Given the description of an element on the screen output the (x, y) to click on. 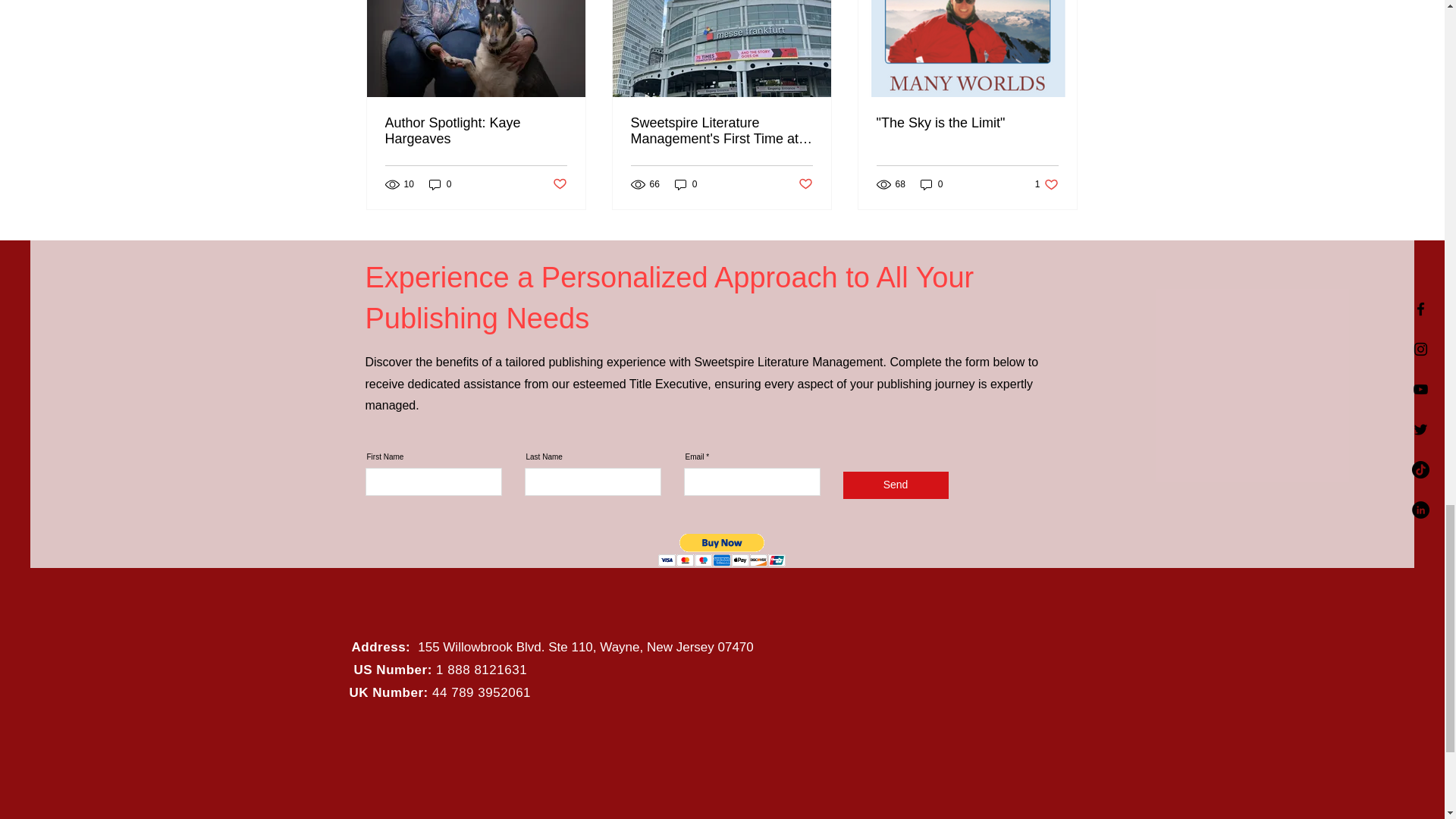
Post not marked as liked (804, 184)
0 (685, 184)
"The Sky is the Limit" (967, 123)
Author Spotlight: Kaye Hargeaves (476, 131)
0 (931, 184)
0 (440, 184)
Post not marked as liked (558, 184)
